Given the description of an element on the screen output the (x, y) to click on. 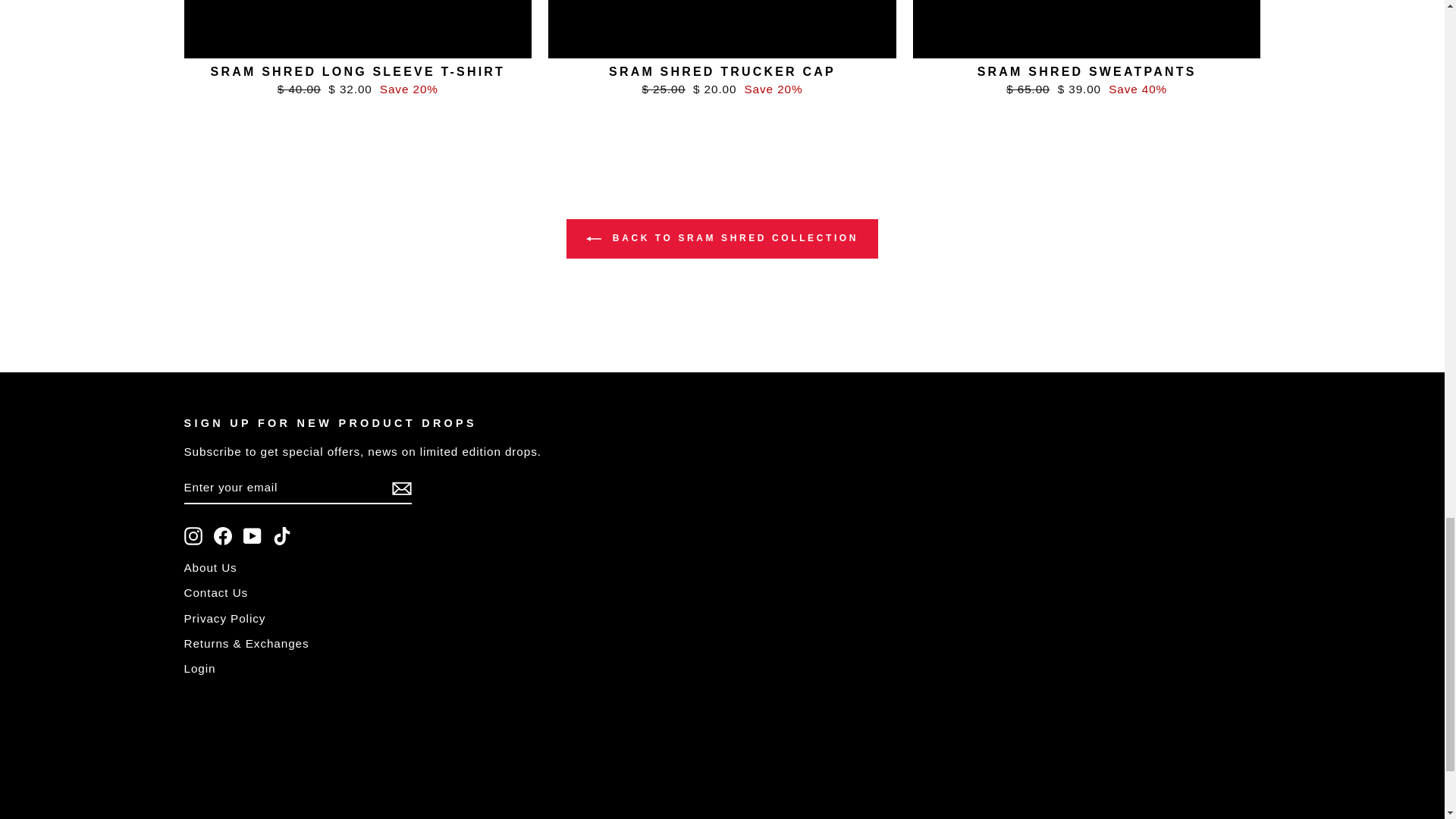
icon-email (400, 488)
instagram (192, 536)
ICON-LEFT-ARROW (593, 238)
SRAMNATION on YouTube (251, 536)
SRAMNATION on TikTok (282, 536)
SRAMNATION on Facebook (222, 536)
SRAMNATION on Instagram (192, 536)
